Given the description of an element on the screen output the (x, y) to click on. 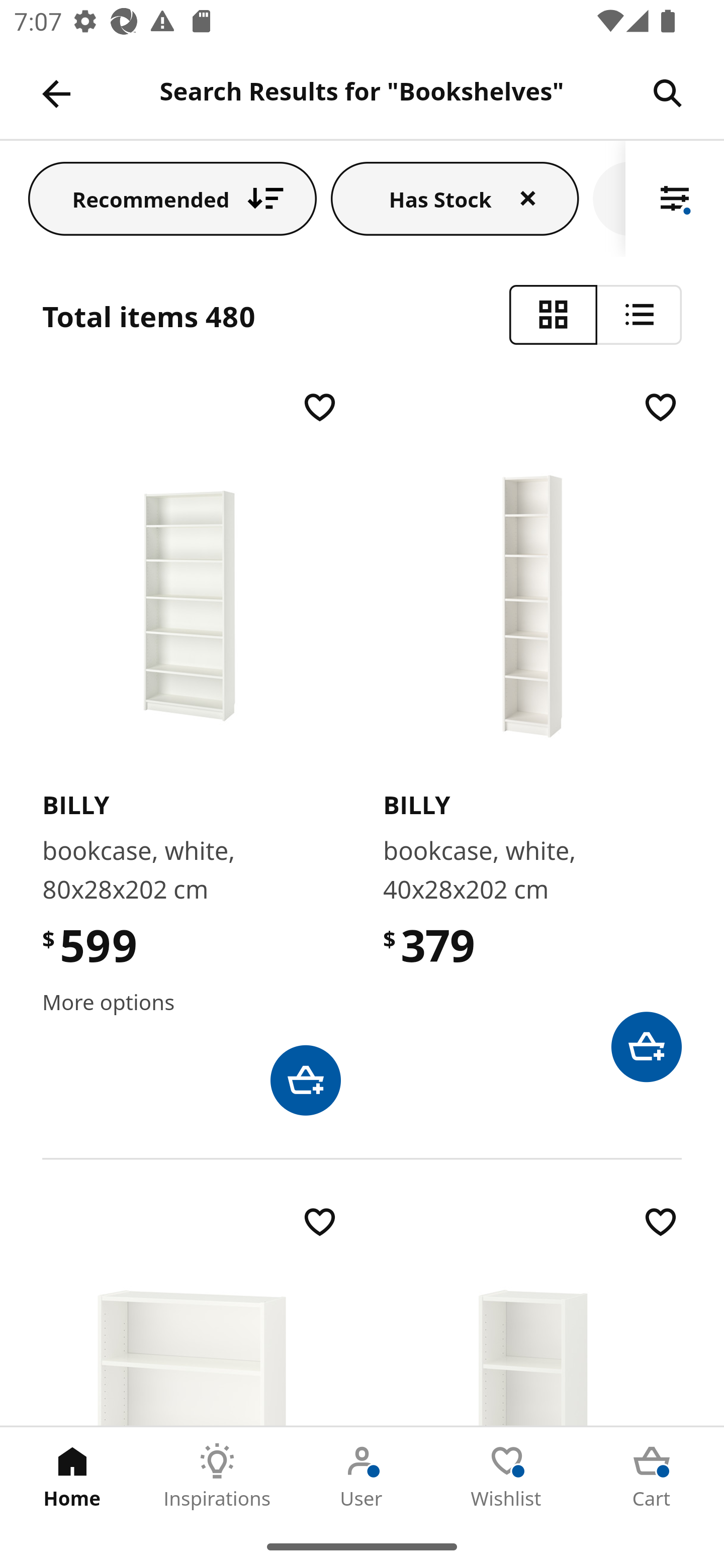
Recommended (172, 198)
Has Stock (454, 198)
​B​I​L​L​Y​
bookcase, white, 40x28x202 cm
$
379 (532, 734)
Home
Tab 1 of 5 (72, 1476)
Inspirations
Tab 2 of 5 (216, 1476)
User
Tab 3 of 5 (361, 1476)
Wishlist
Tab 4 of 5 (506, 1476)
Cart
Tab 5 of 5 (651, 1476)
